Given the description of an element on the screen output the (x, y) to click on. 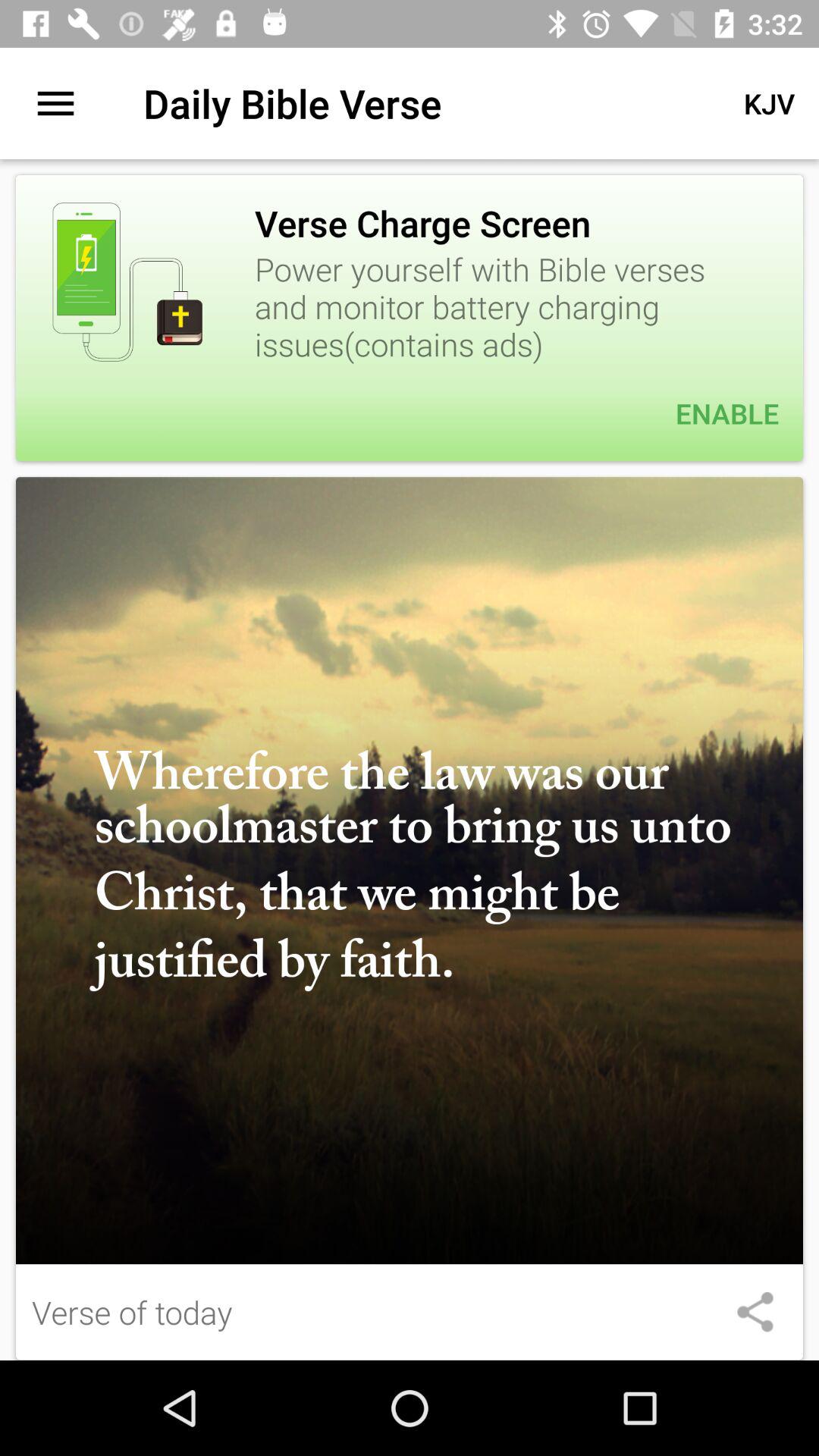
tap item next to the verse of today item (755, 1311)
